Given the description of an element on the screen output the (x, y) to click on. 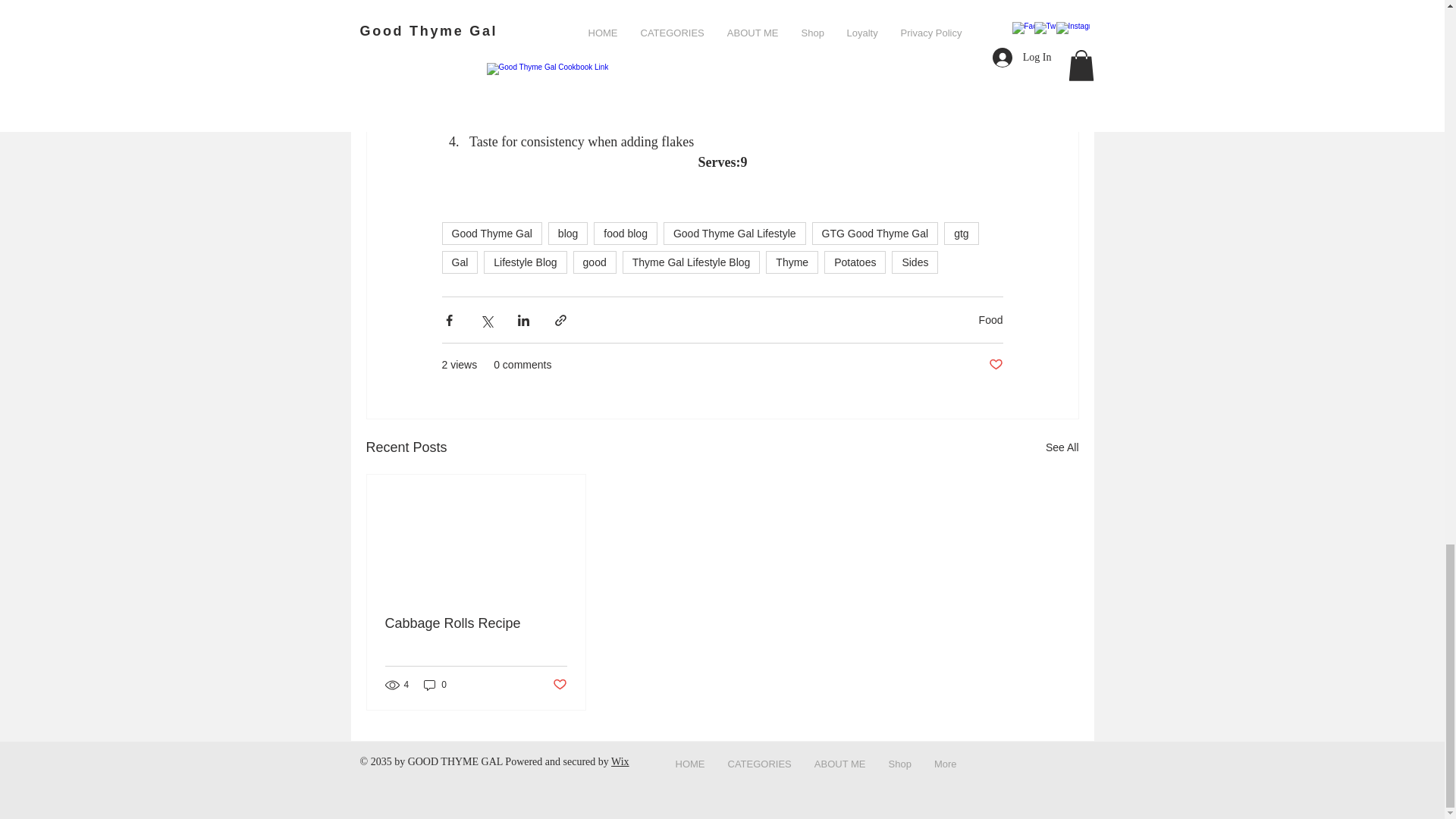
Lifestyle Blog (524, 261)
blog (568, 232)
Good Thyme Gal (491, 232)
good (594, 261)
food blog (626, 232)
gtg (960, 232)
Potatoes (854, 261)
Good Thyme Gal Lifestyle (734, 232)
GTG Good Thyme Gal (875, 232)
Gal (459, 261)
